Given the description of an element on the screen output the (x, y) to click on. 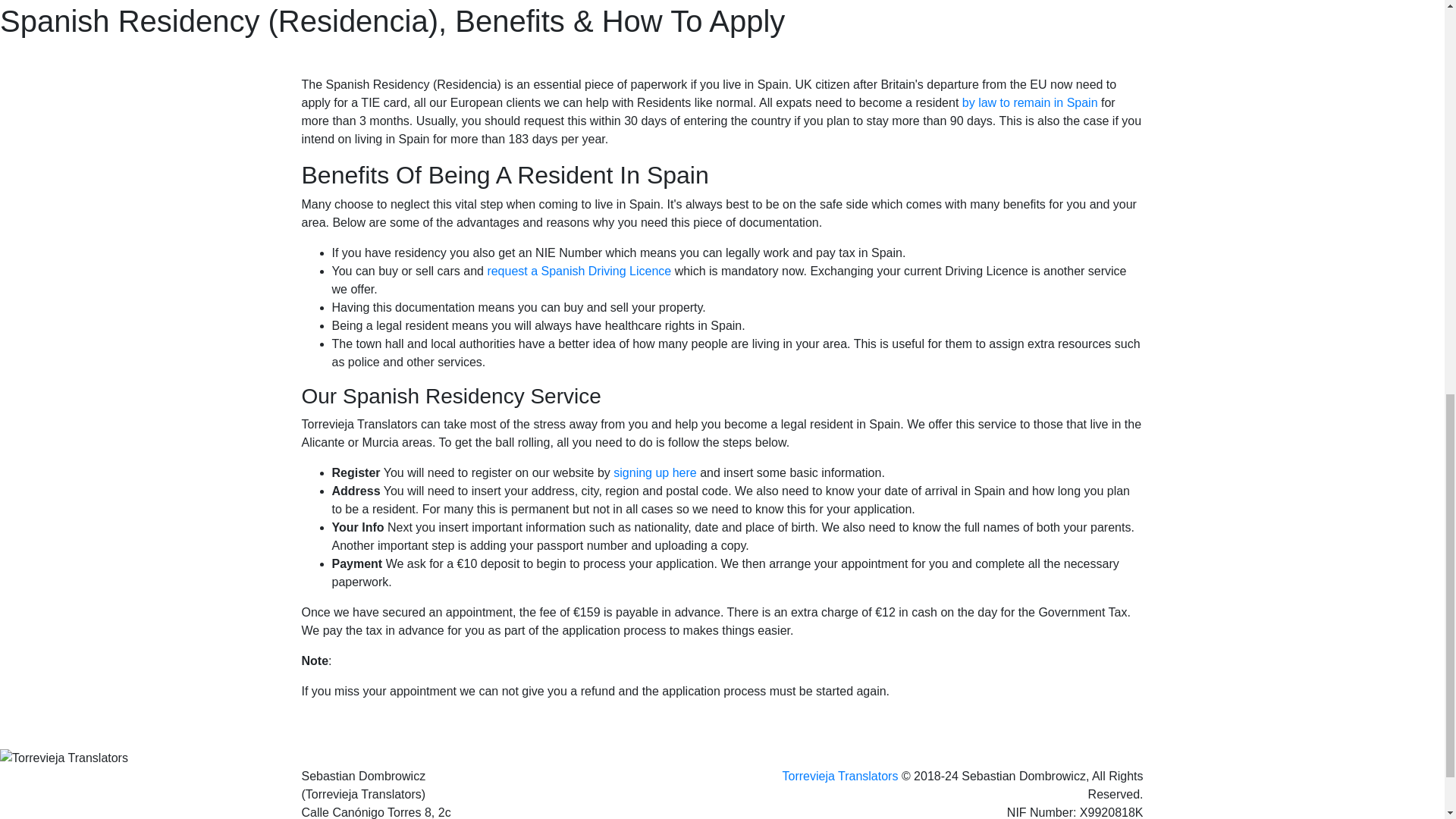
by law to remain in Spain (1029, 102)
Torrevieja Translators (839, 775)
signing up here (653, 472)
request a Spanish Driving Licence (578, 270)
